Given the description of an element on the screen output the (x, y) to click on. 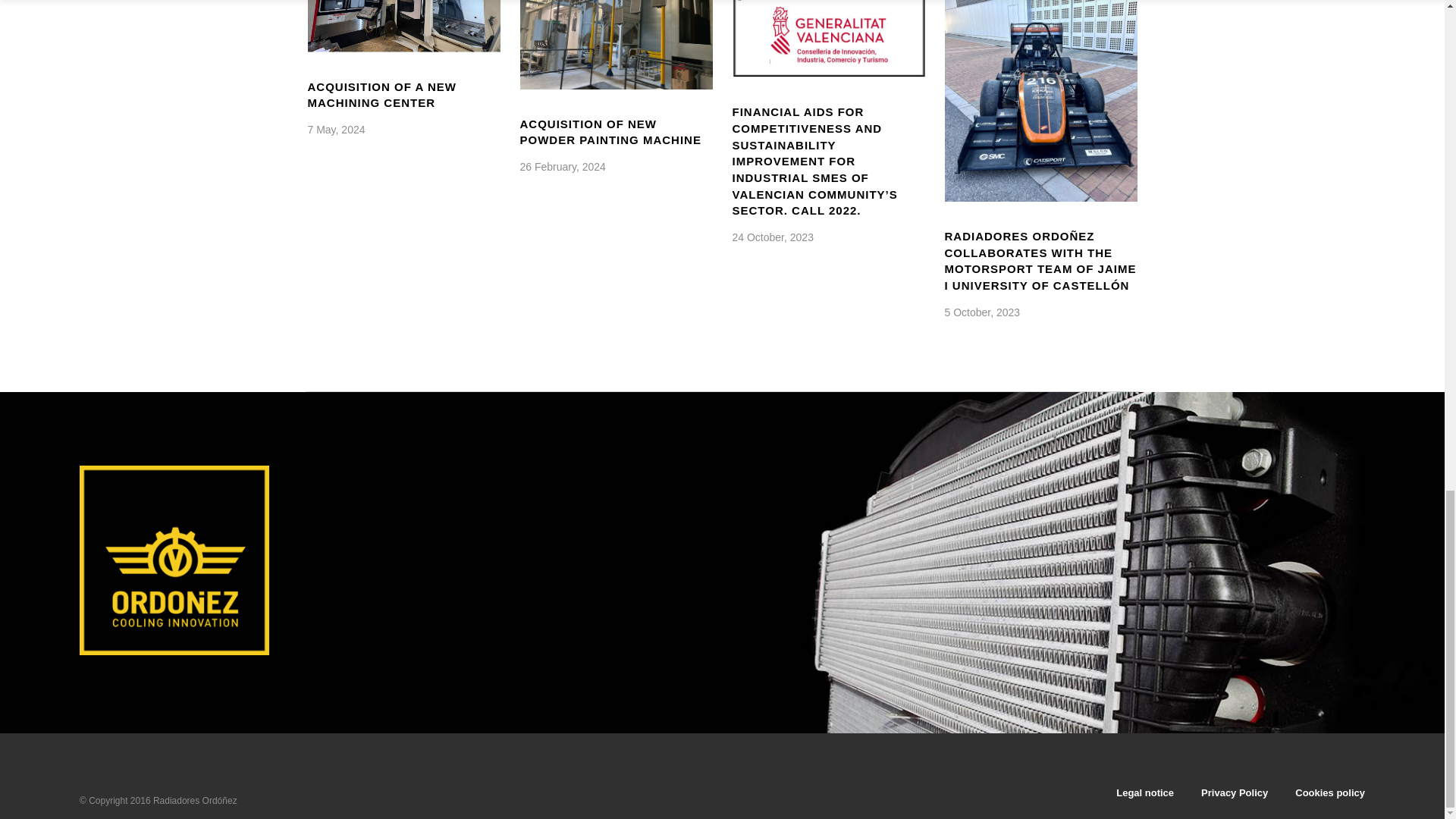
ACQUISITION OF NEW POWDER PAINTING MACHINE (616, 44)
ACQUISITION OF A NEW MACHINING CENTER (403, 26)
ACQUISITION OF NEW POWDER PAINTING MACHINE (610, 132)
ACQUISITION OF A NEW MACHINING CENTER (382, 94)
